Given the description of an element on the screen output the (x, y) to click on. 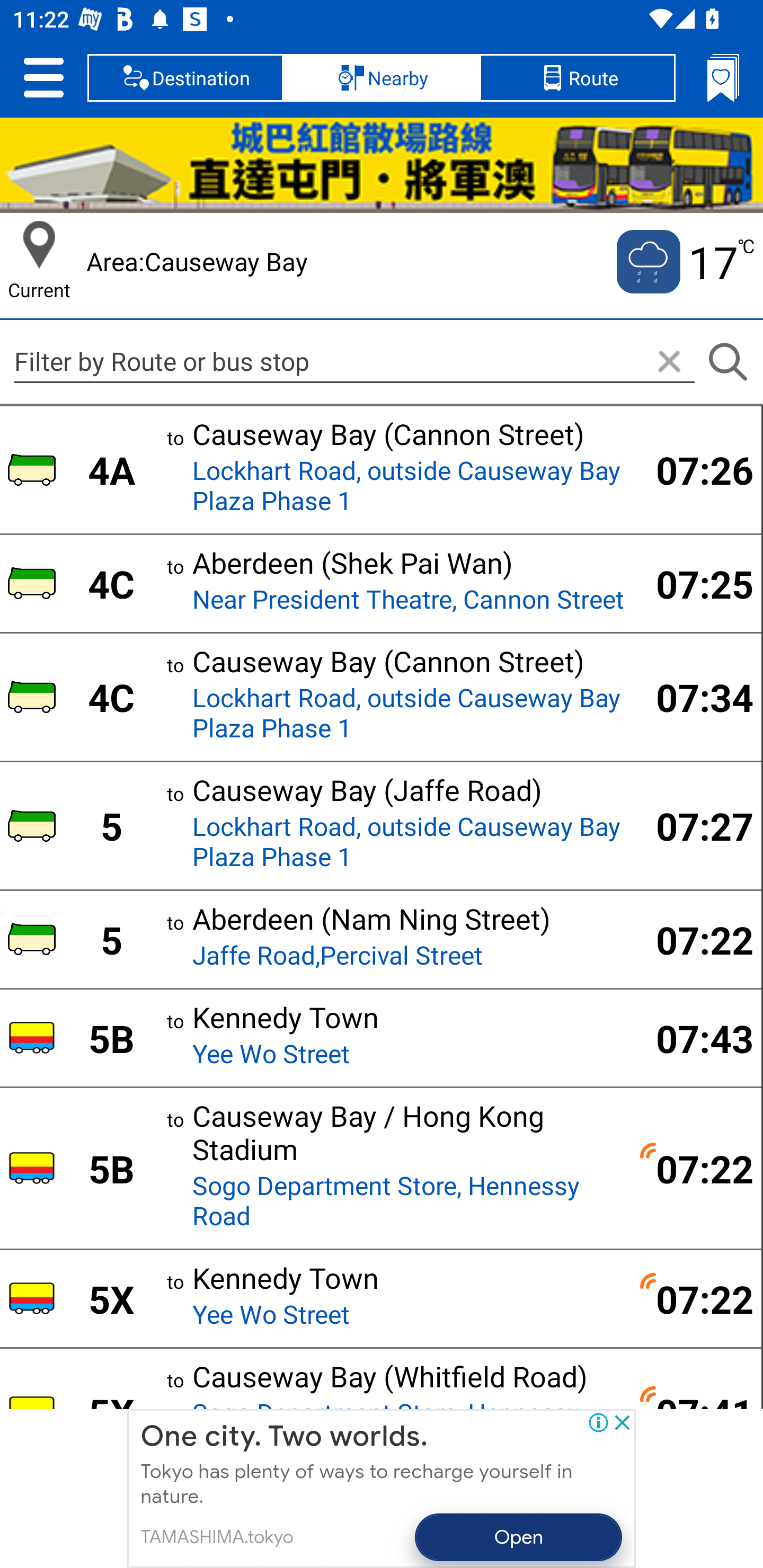
Destination (185, 77)
Nearby, selected (381, 77)
Route (577, 77)
Bookmarks (723, 77)
Setting (43, 77)
HKC (381, 165)
Current Location (38, 244)
Current temputure is  17  no 17 ℃ (684, 261)
Filter by Route or bus stop (354, 361)
Search (727, 362)
Clear (669, 361)
07:26 (693, 469)
07:25 (693, 583)
07:34 (693, 696)
07:27 (693, 825)
07:22 (693, 939)
07:43 (693, 1037)
07:22 (693, 1168)
07:22 (693, 1298)
One city. Two worlds. (283, 1437)
Open (519, 1537)
TAMASHIMA.tokyo (216, 1537)
